Given the description of an element on the screen output the (x, y) to click on. 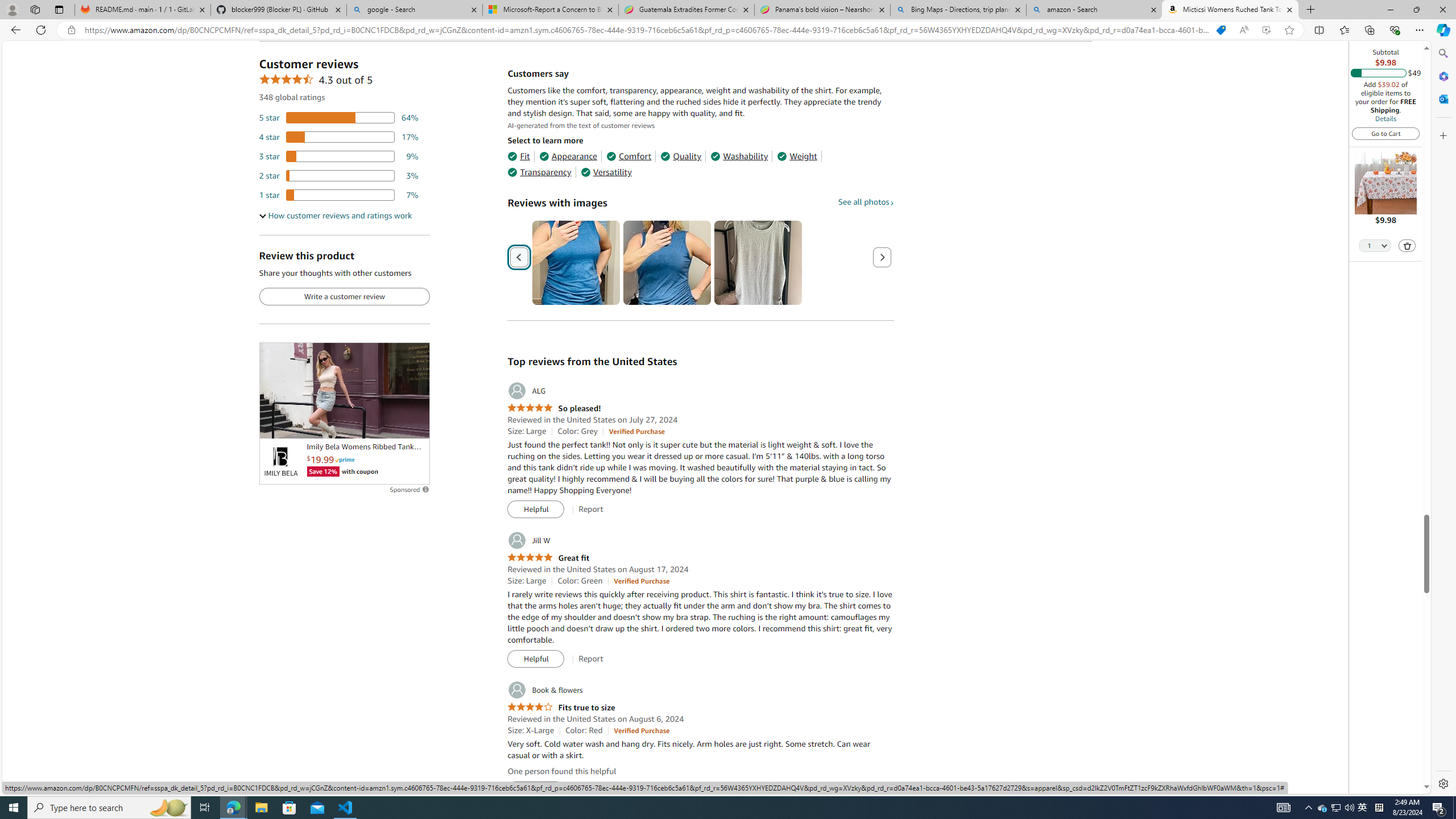
5.0 out of 5 stars So pleased! (553, 408)
Weight (796, 156)
Comfort (628, 156)
ALG (526, 390)
Class: a-carousel-card (757, 262)
